Given the description of an element on the screen output the (x, y) to click on. 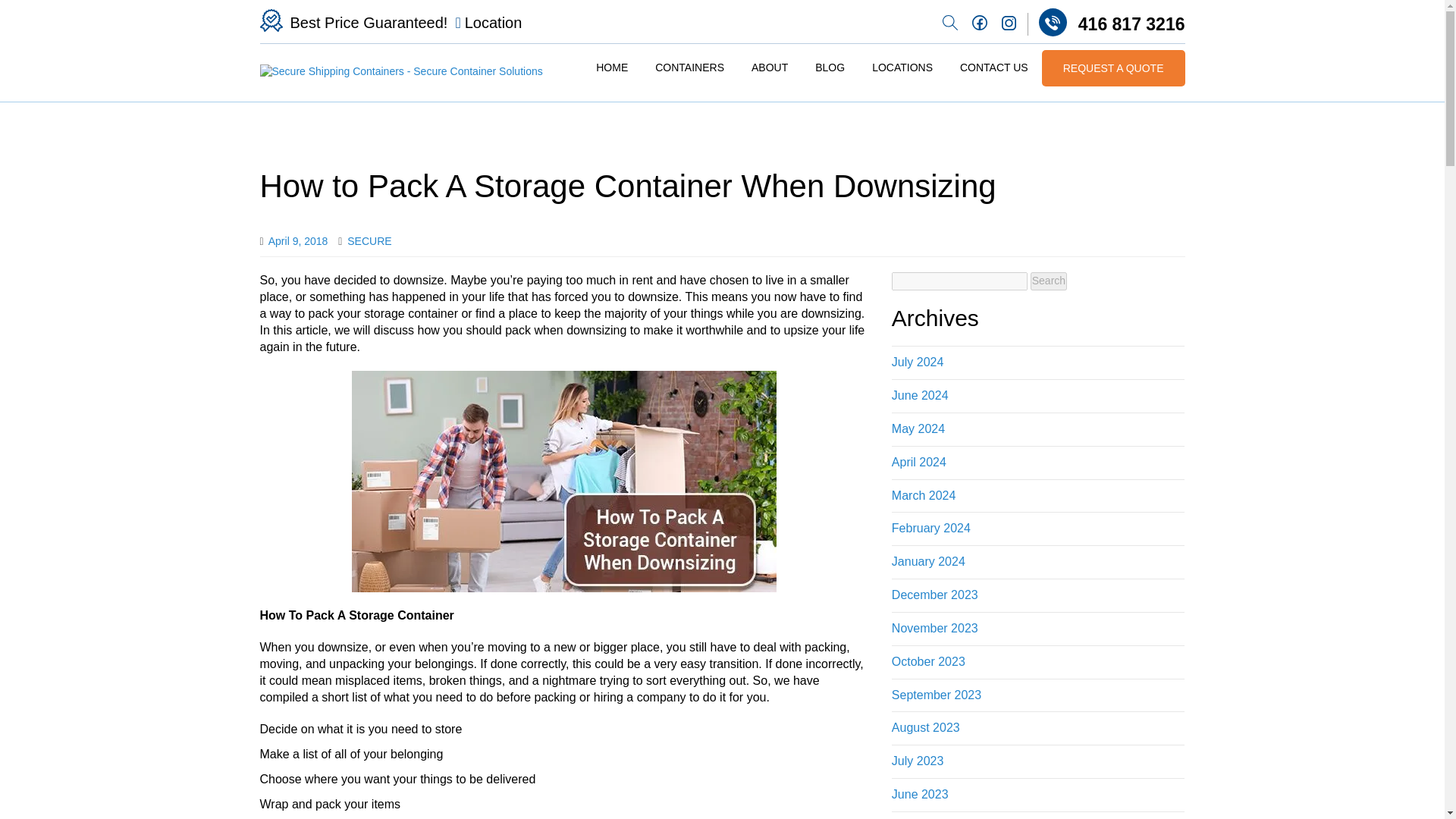
LOCATIONS (902, 68)
CONTAINERS (689, 68)
Secure Shipping Containers - Secure Container Solutions (400, 70)
How To Pack A Storage Container When Downsizing (564, 481)
BLOG (829, 68)
HOME (611, 68)
Search (1048, 280)
ABOUT (769, 68)
416 817 3216 (1106, 22)
